Given the description of an element on the screen output the (x, y) to click on. 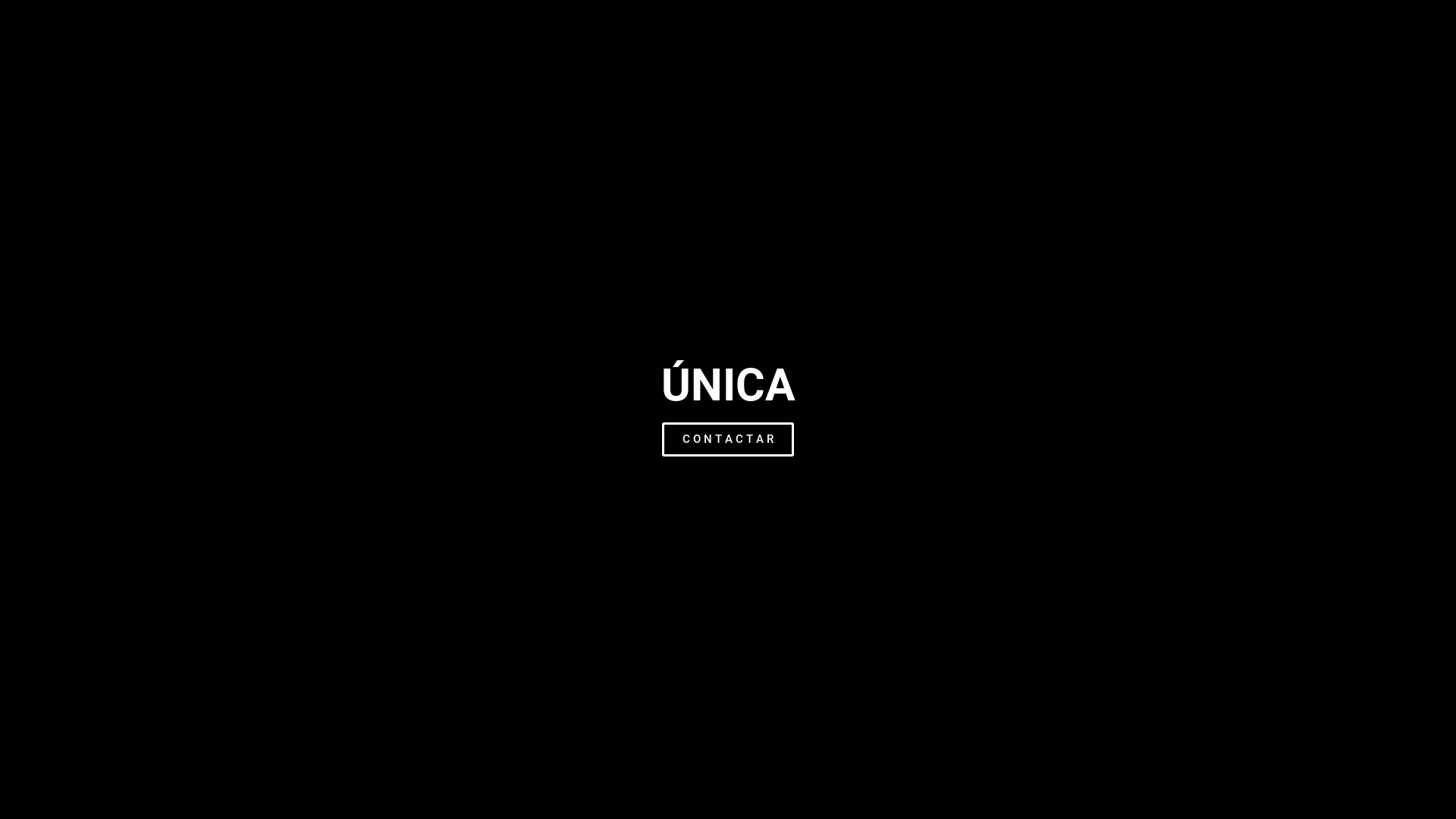
C O N T A C T A R Element type: text (727, 439)
